Given the description of an element on the screen output the (x, y) to click on. 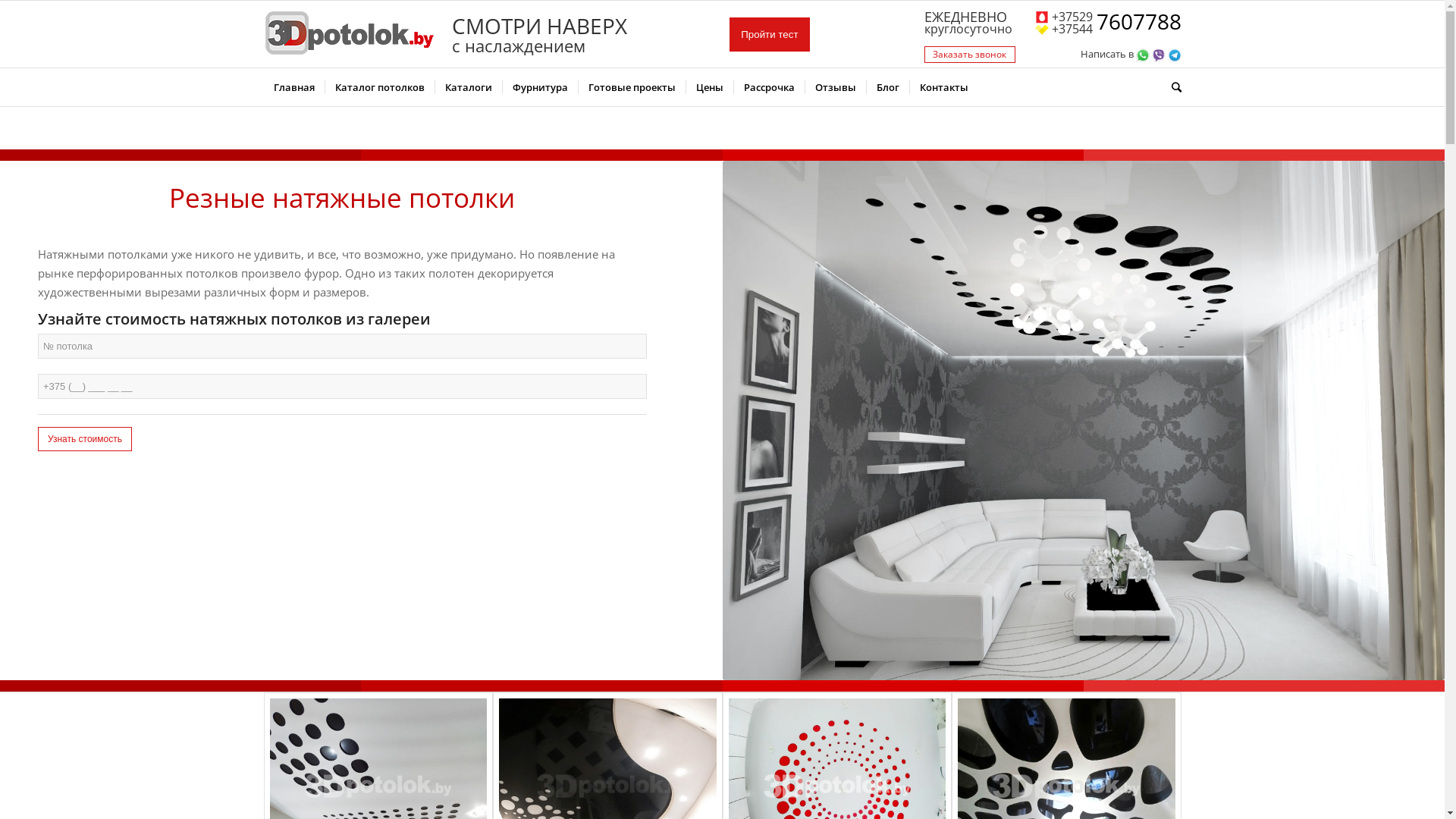
7607788 Element type: text (1138, 22)
